Given the description of an element on the screen output the (x, y) to click on. 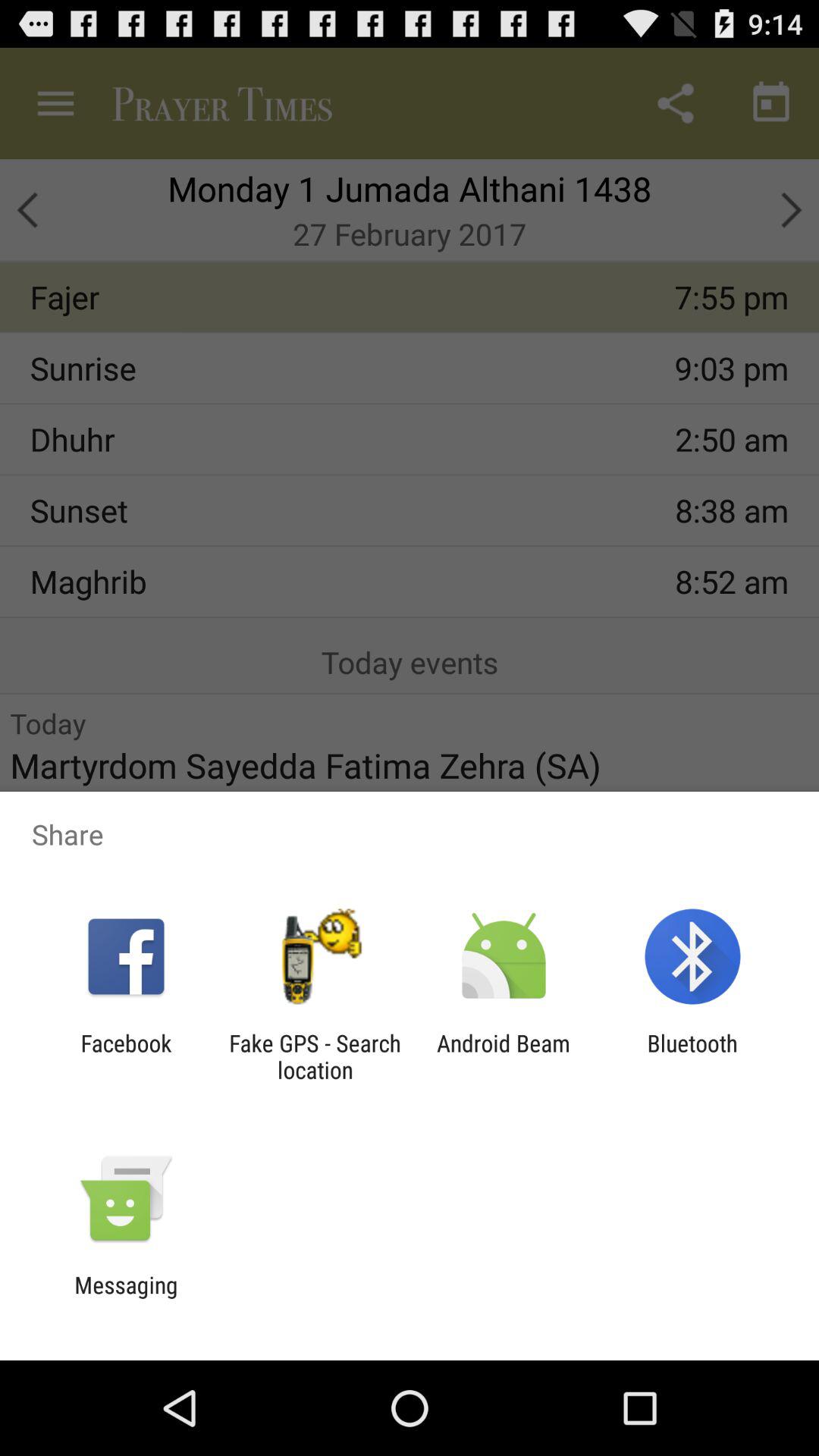
tap item to the left of bluetooth (503, 1056)
